Given the description of an element on the screen output the (x, y) to click on. 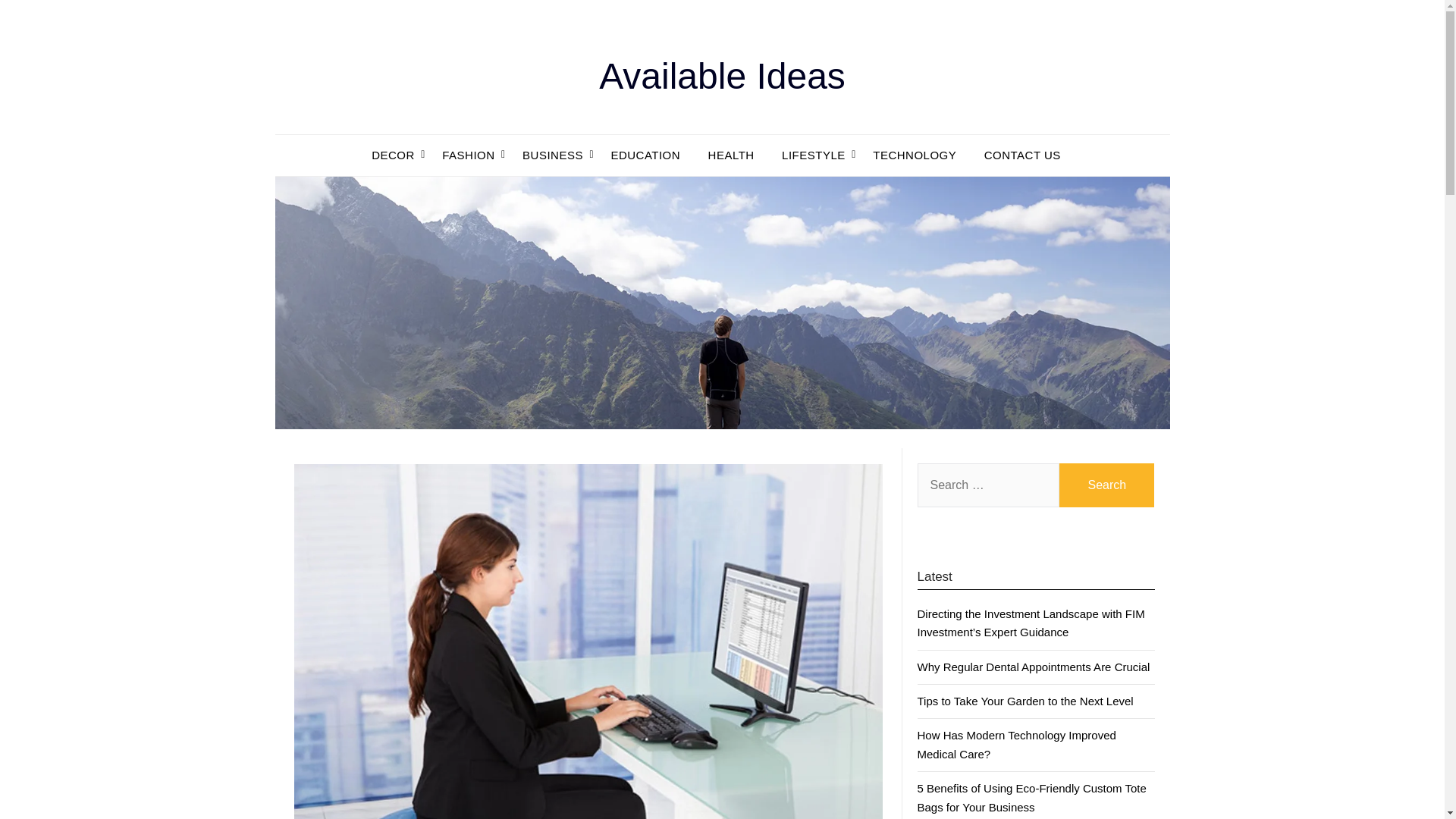
HEALTH (731, 155)
CONTACT US (1022, 155)
Why Regular Dental Appointments Are Crucial (1033, 666)
Tips to Take Your Garden to the Next Level (1025, 700)
EDUCATION (645, 155)
How Has Modern Technology Improved Medical Care? (1016, 744)
LIFESTYLE (813, 155)
Search (1106, 484)
FASHION (467, 155)
Search (1106, 484)
